Given the description of an element on the screen output the (x, y) to click on. 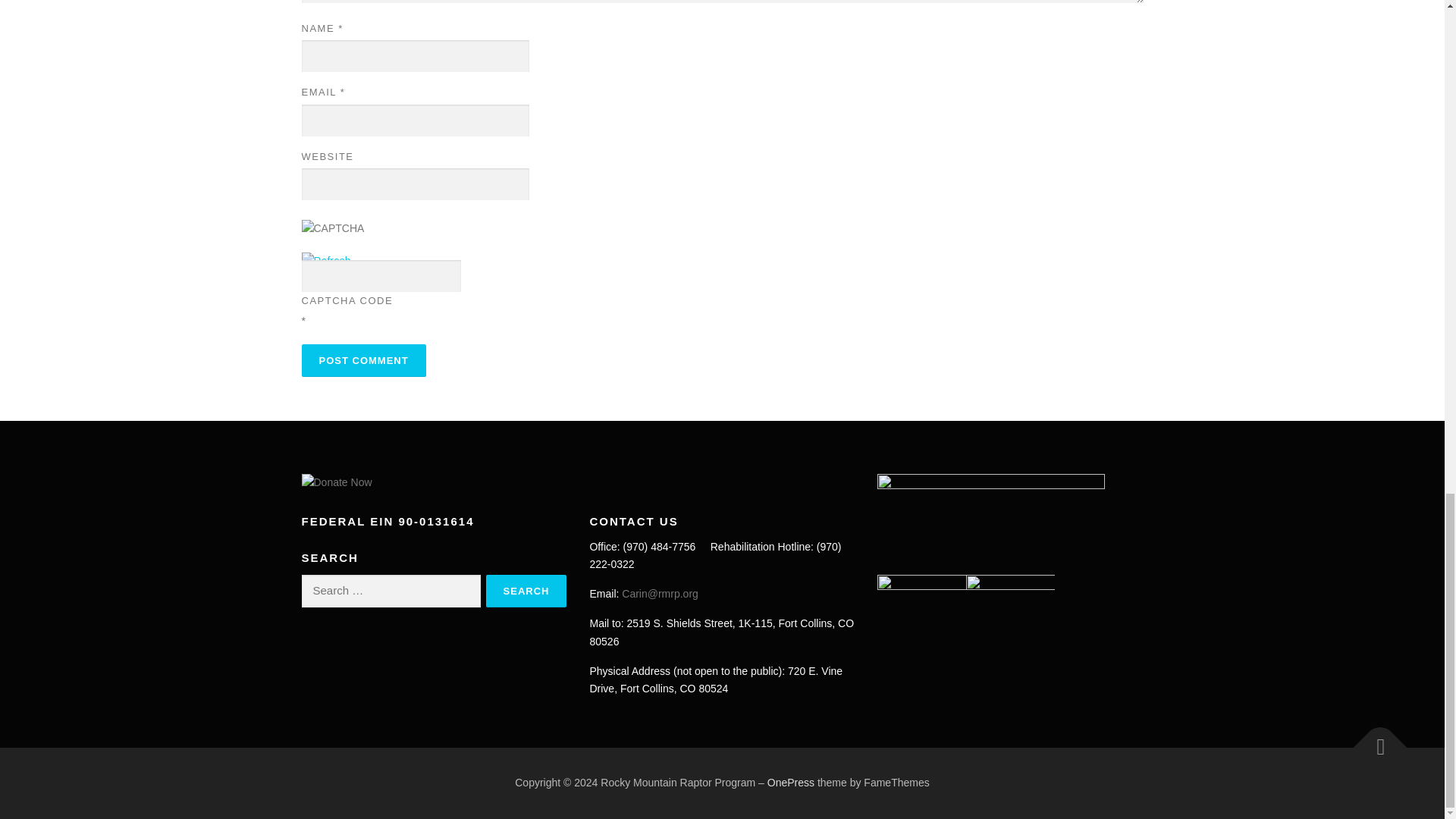
Search (526, 590)
CAPTCHA (351, 236)
Back To Top (1372, 740)
Refresh (325, 260)
Search (526, 590)
Post Comment (363, 359)
